Given the description of an element on the screen output the (x, y) to click on. 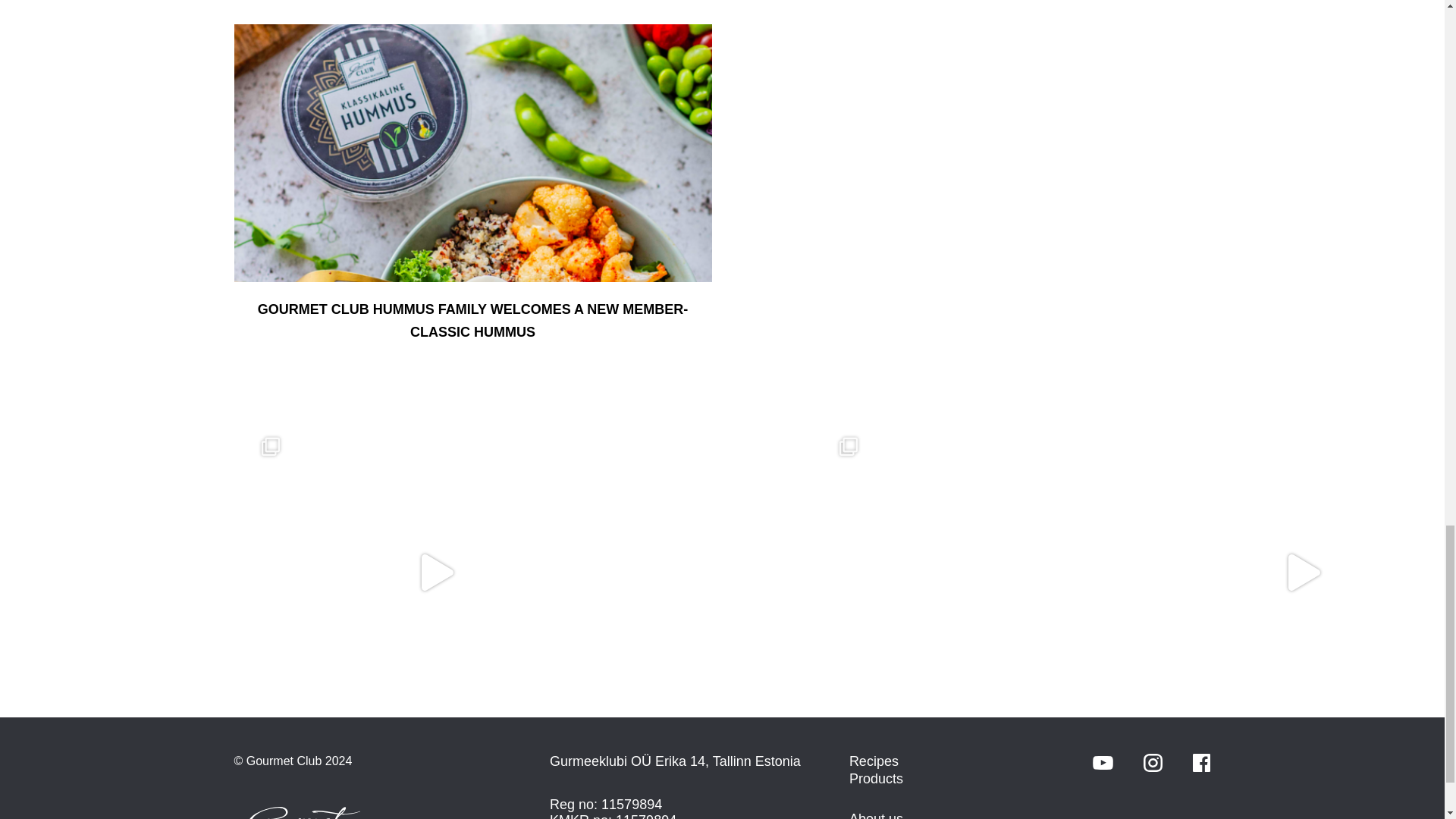
Products (875, 778)
About us (875, 815)
Recipes (873, 761)
